Given the description of an element on the screen output the (x, y) to click on. 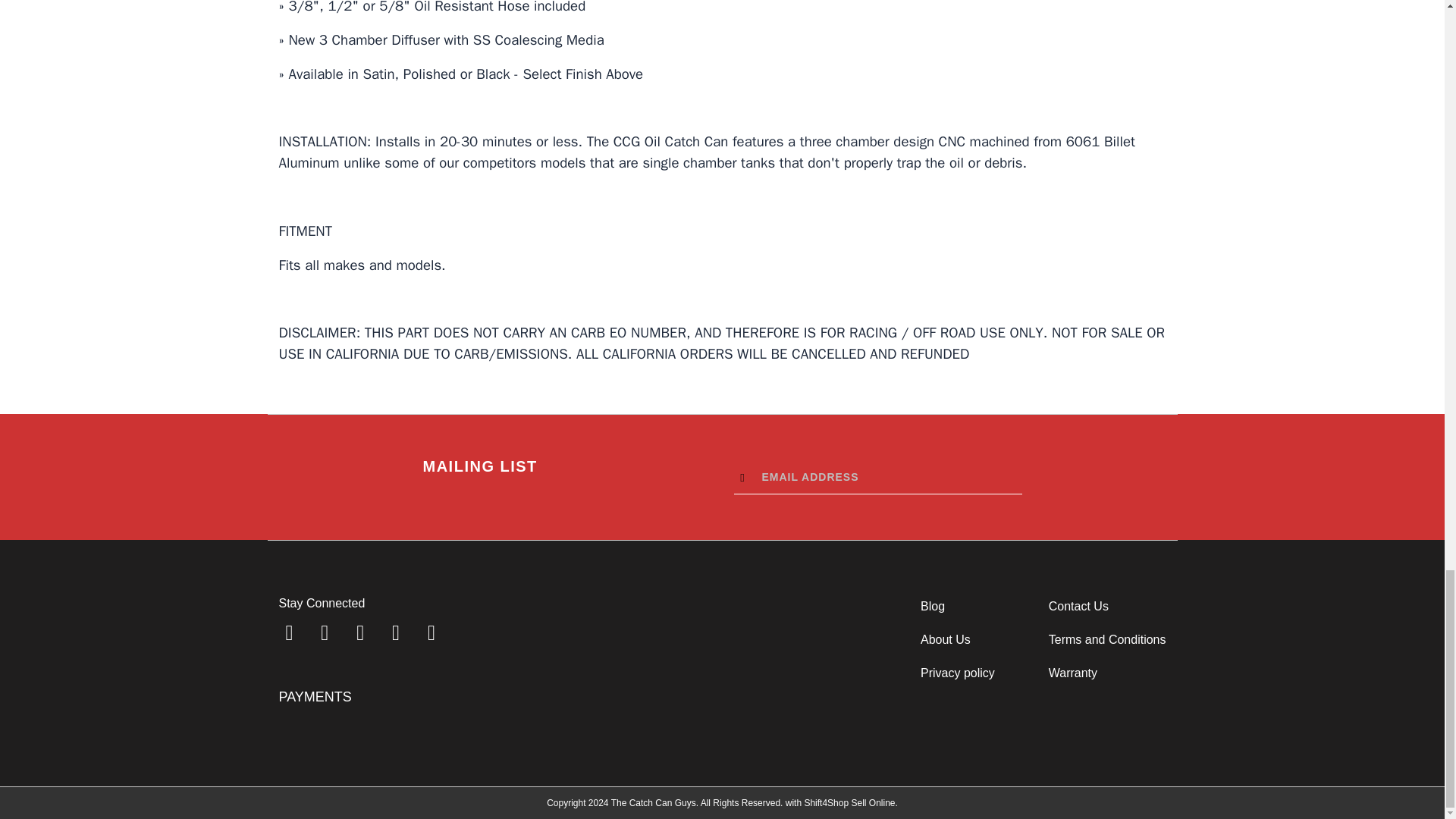
Like Us on Facebook (289, 632)
Follow Us on Instagram (431, 632)
Follow Us on Twitter (324, 632)
Follow Us on Pinterest (395, 632)
Subscribe to our Channel (360, 632)
